Given the description of an element on the screen output the (x, y) to click on. 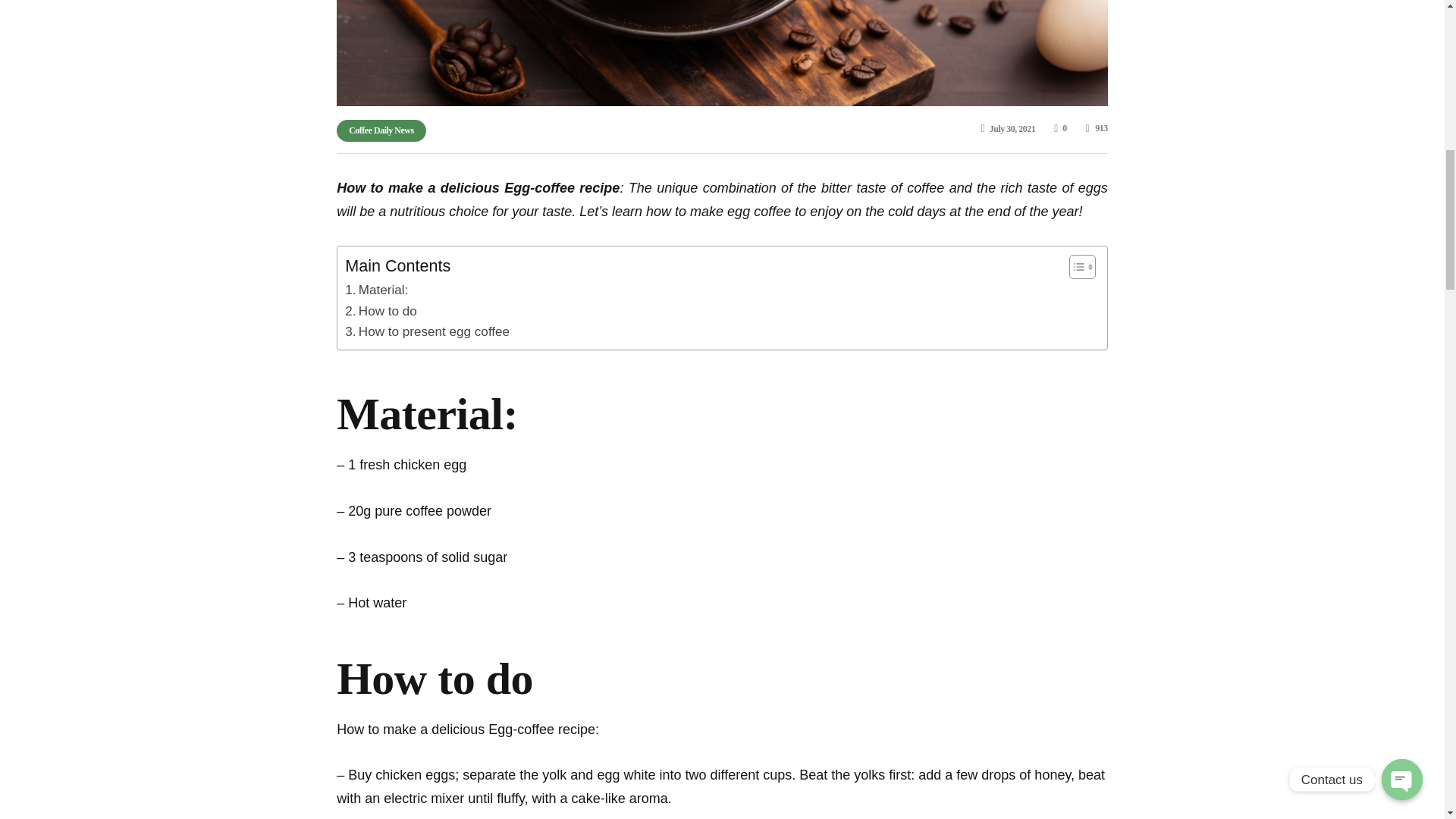
July 30, 2021 (1008, 128)
How to do (380, 311)
taste of coffee (899, 187)
Material: (376, 290)
egg coffee (758, 211)
How to present egg coffee (427, 331)
Coffee Daily News (380, 130)
